Given the description of an element on the screen output the (x, y) to click on. 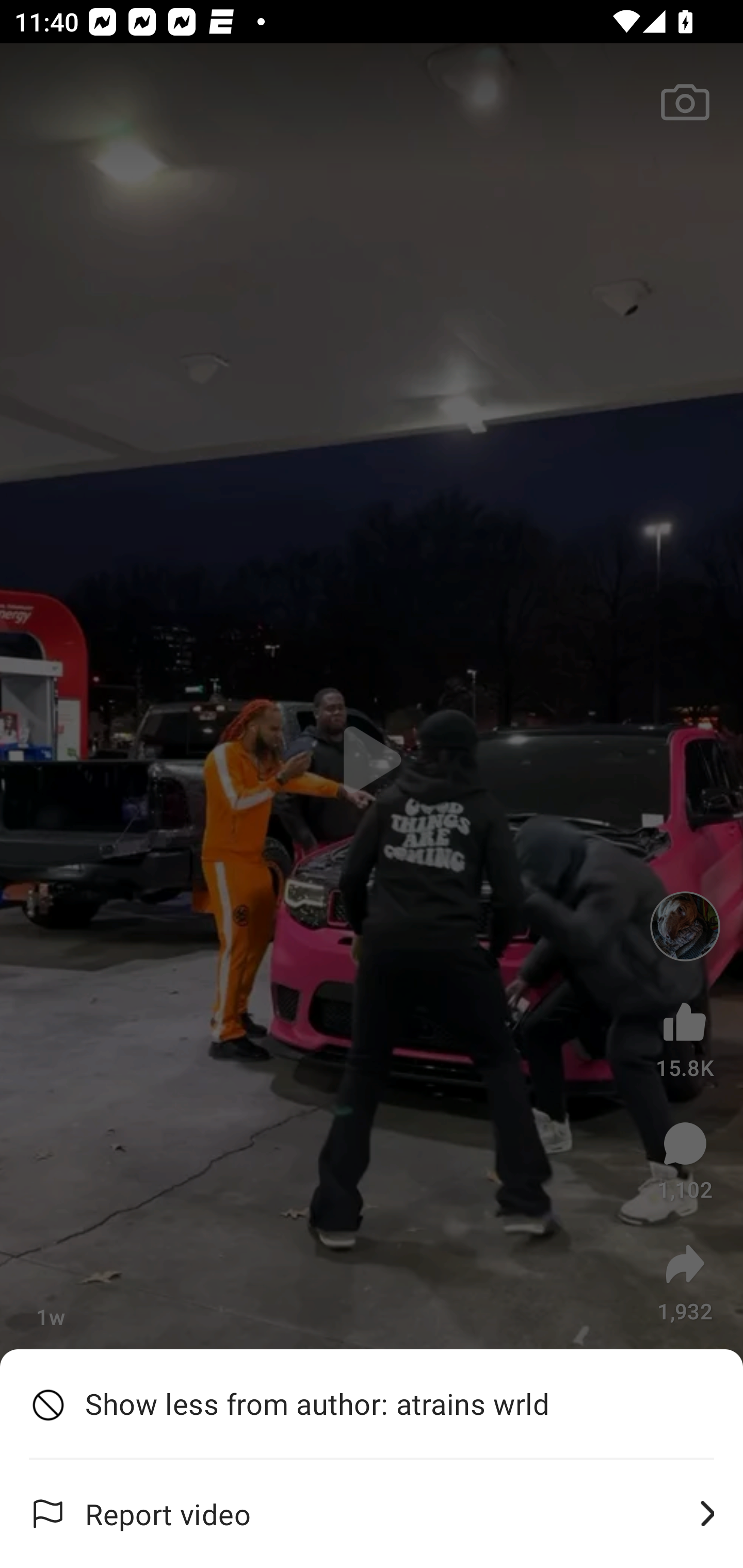
Show less from author: atrains wrld (371, 1404)
Report video (371, 1513)
